Given the description of an element on the screen output the (x, y) to click on. 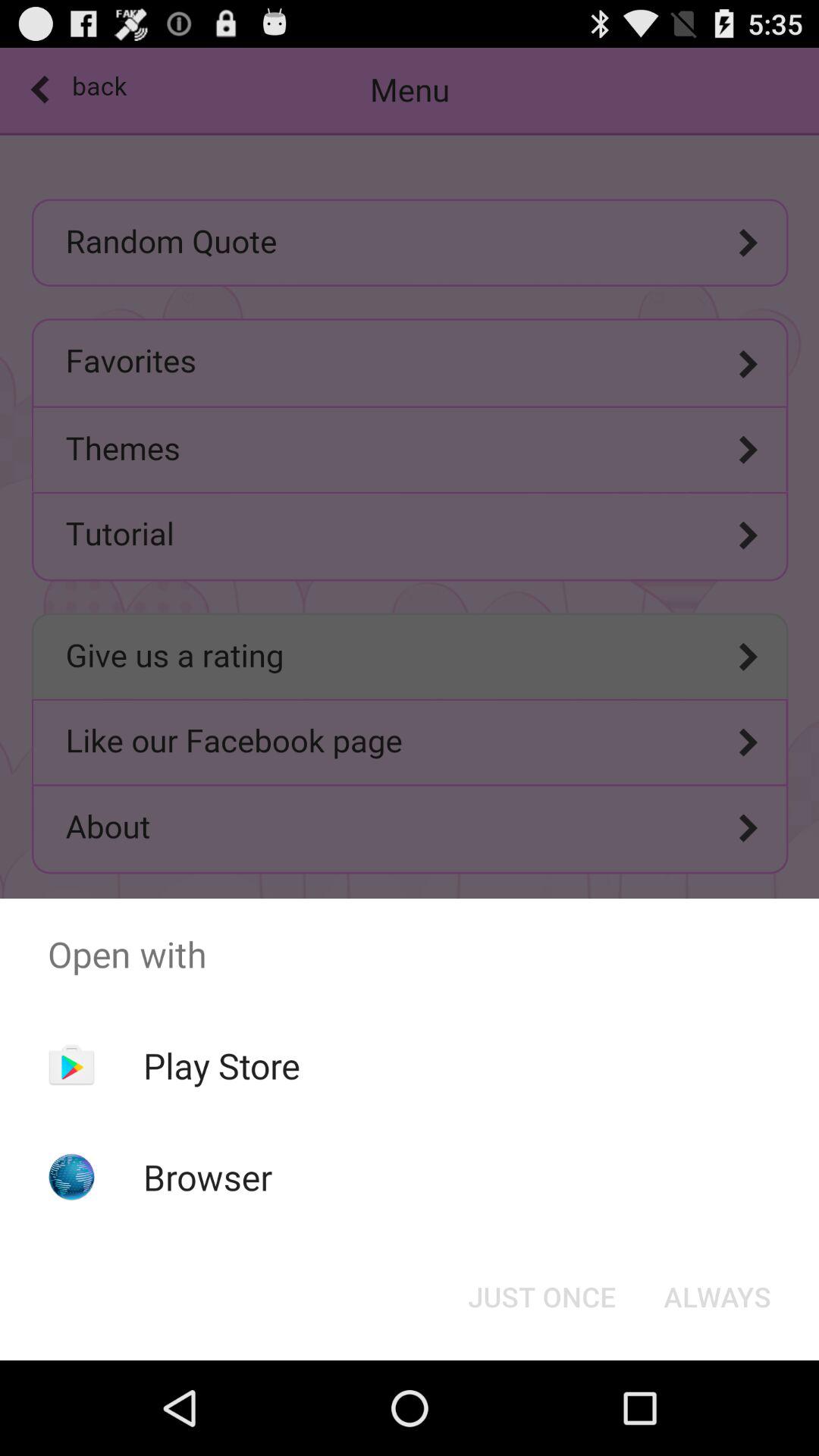
click the play store item (221, 1065)
